Given the description of an element on the screen output the (x, y) to click on. 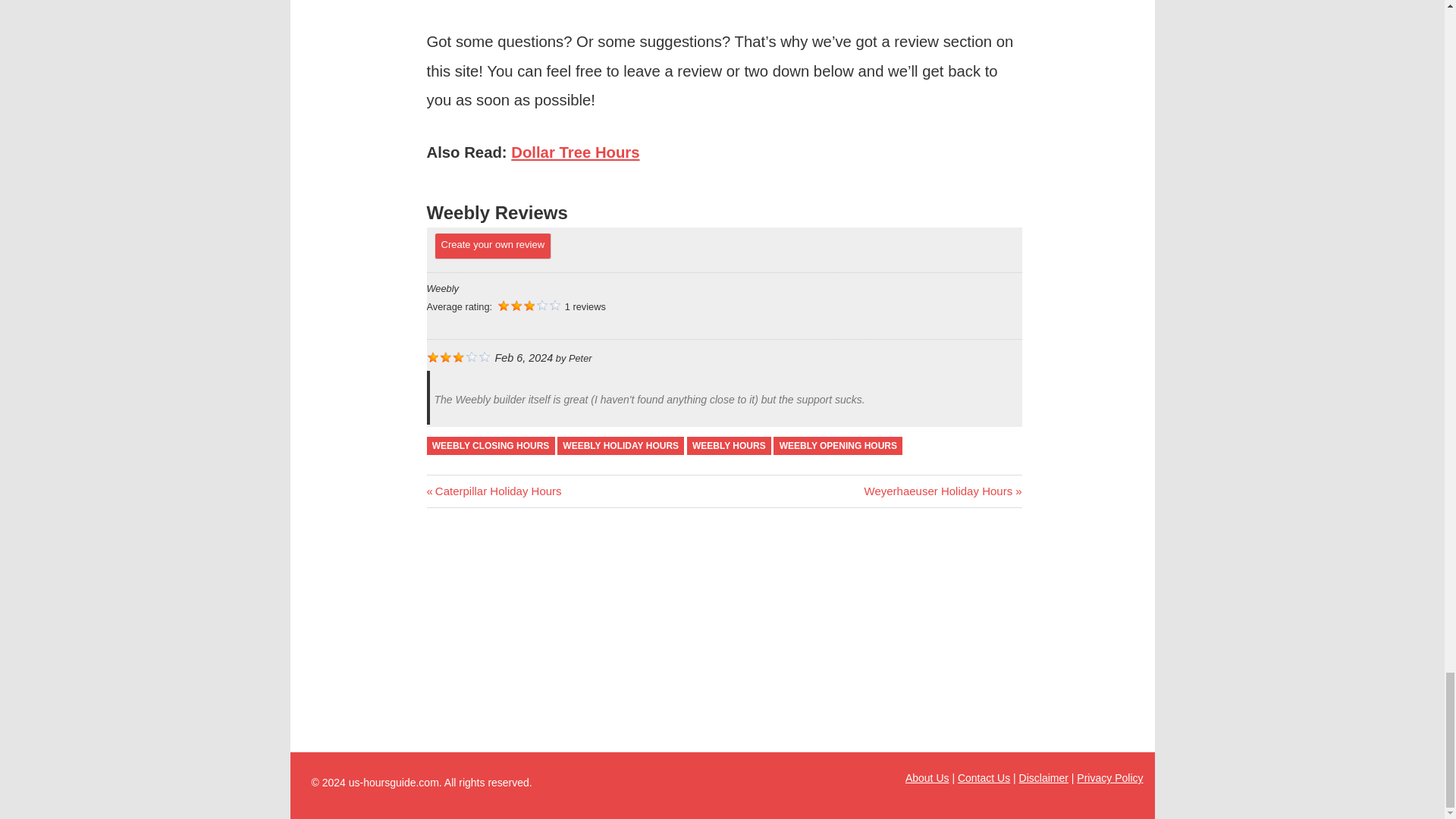
Dollar Tree Hours (575, 152)
WEEBLY HOURS (729, 445)
WEEBLY CLOSING HOURS (490, 445)
About Us (927, 777)
Privacy Policy (1109, 777)
WEEBLY OPENING HOURS (837, 445)
Disclaimer (1043, 777)
Contact Us (493, 490)
